Given the description of an element on the screen output the (x, y) to click on. 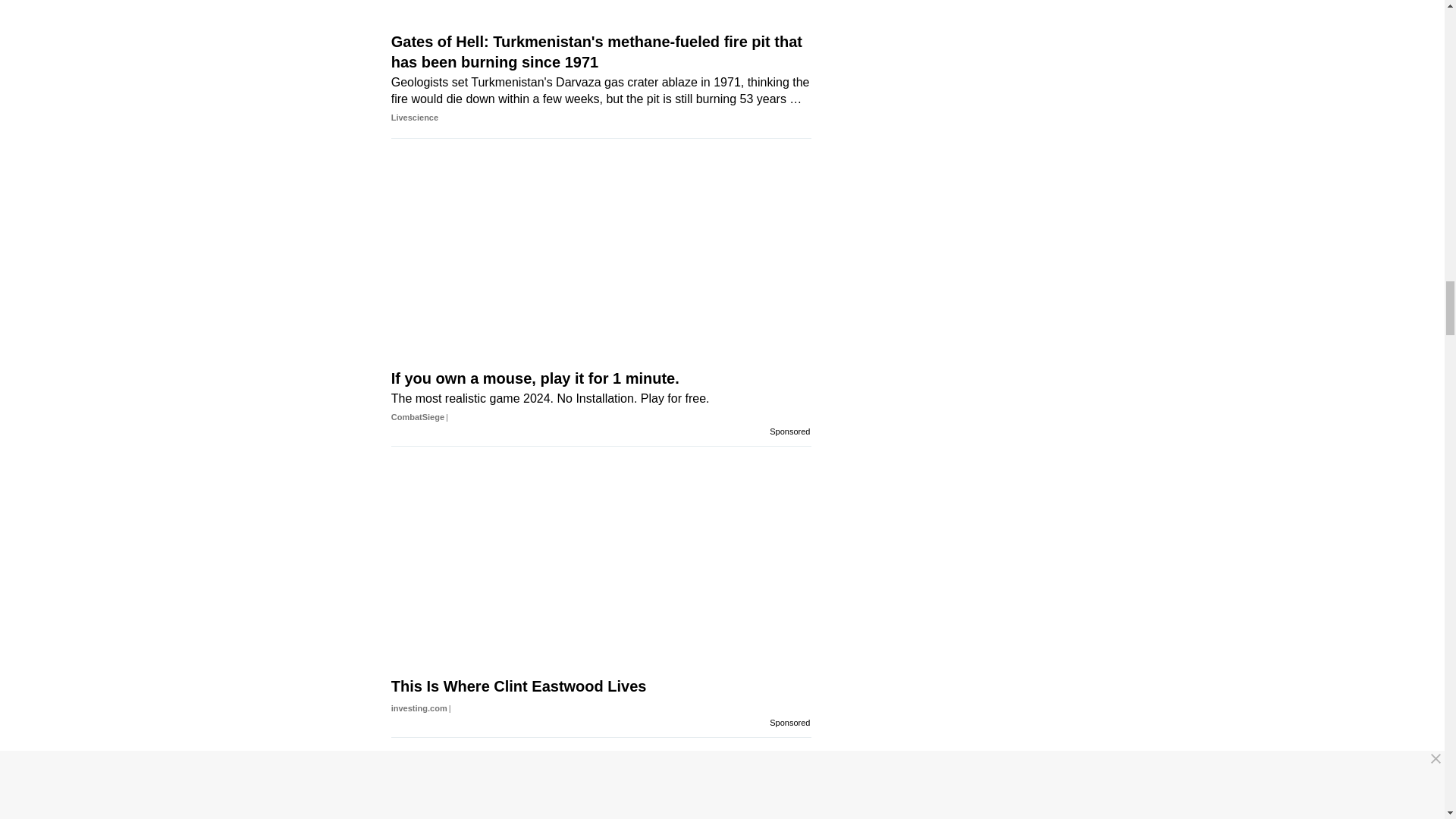
If you own a mouse, play it for 1 minute. (600, 413)
This Is Where Clint Eastwood Lives (600, 712)
